Given the description of an element on the screen output the (x, y) to click on. 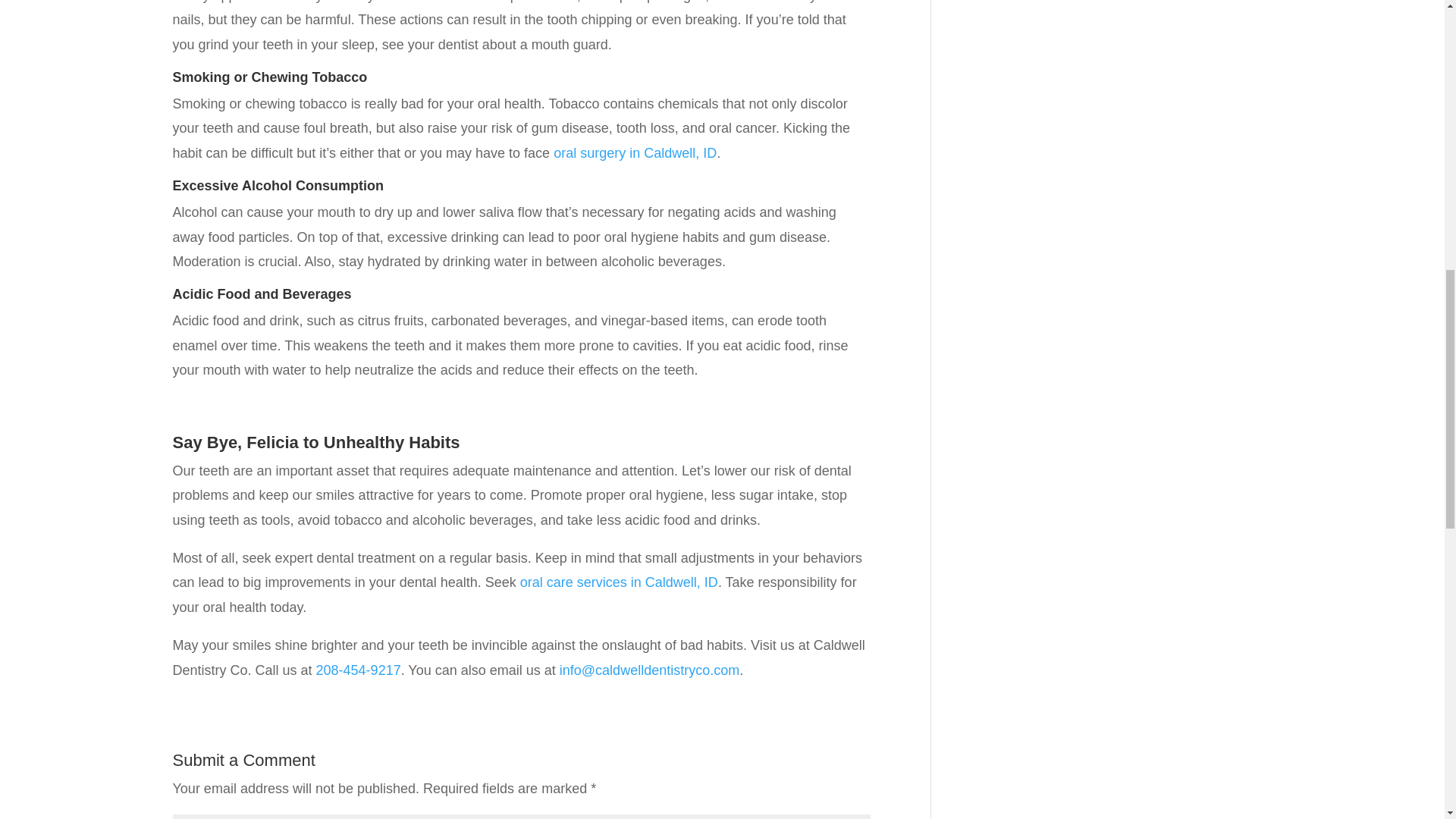
208-454-9217 (358, 670)
oral surgery in Caldwell, ID (634, 152)
oral care services in Caldwell, ID (618, 581)
